Given the description of an element on the screen output the (x, y) to click on. 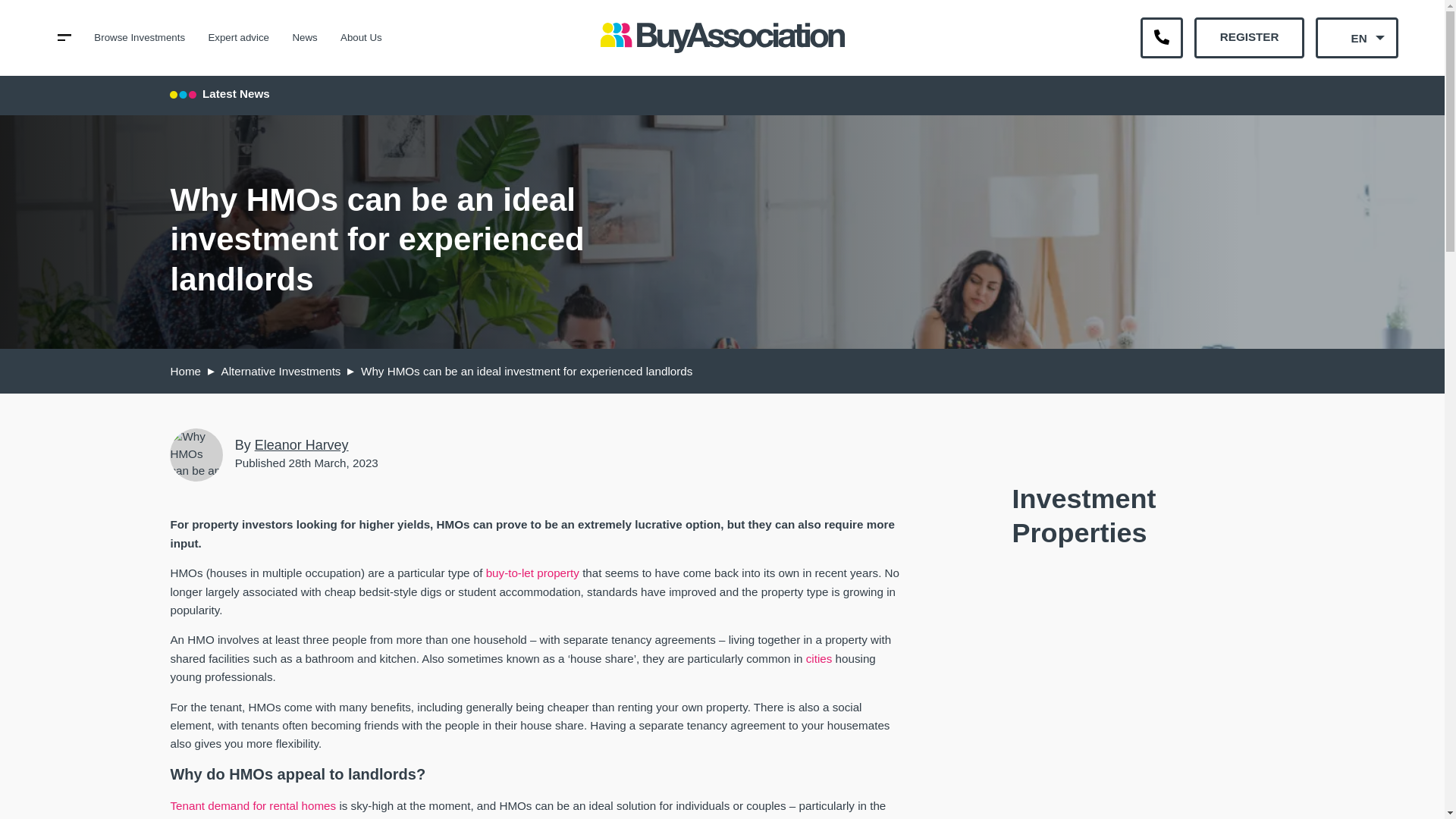
buy-to-let property (532, 572)
News (305, 38)
Posts by Eleanor Harvey (301, 444)
About Us (361, 38)
EN (1356, 37)
REGISTER (1248, 37)
Browse Investments (139, 38)
Tenant demand for rental homes (253, 805)
Expert advice (238, 38)
Alternative Investments (280, 370)
